Given the description of an element on the screen output the (x, y) to click on. 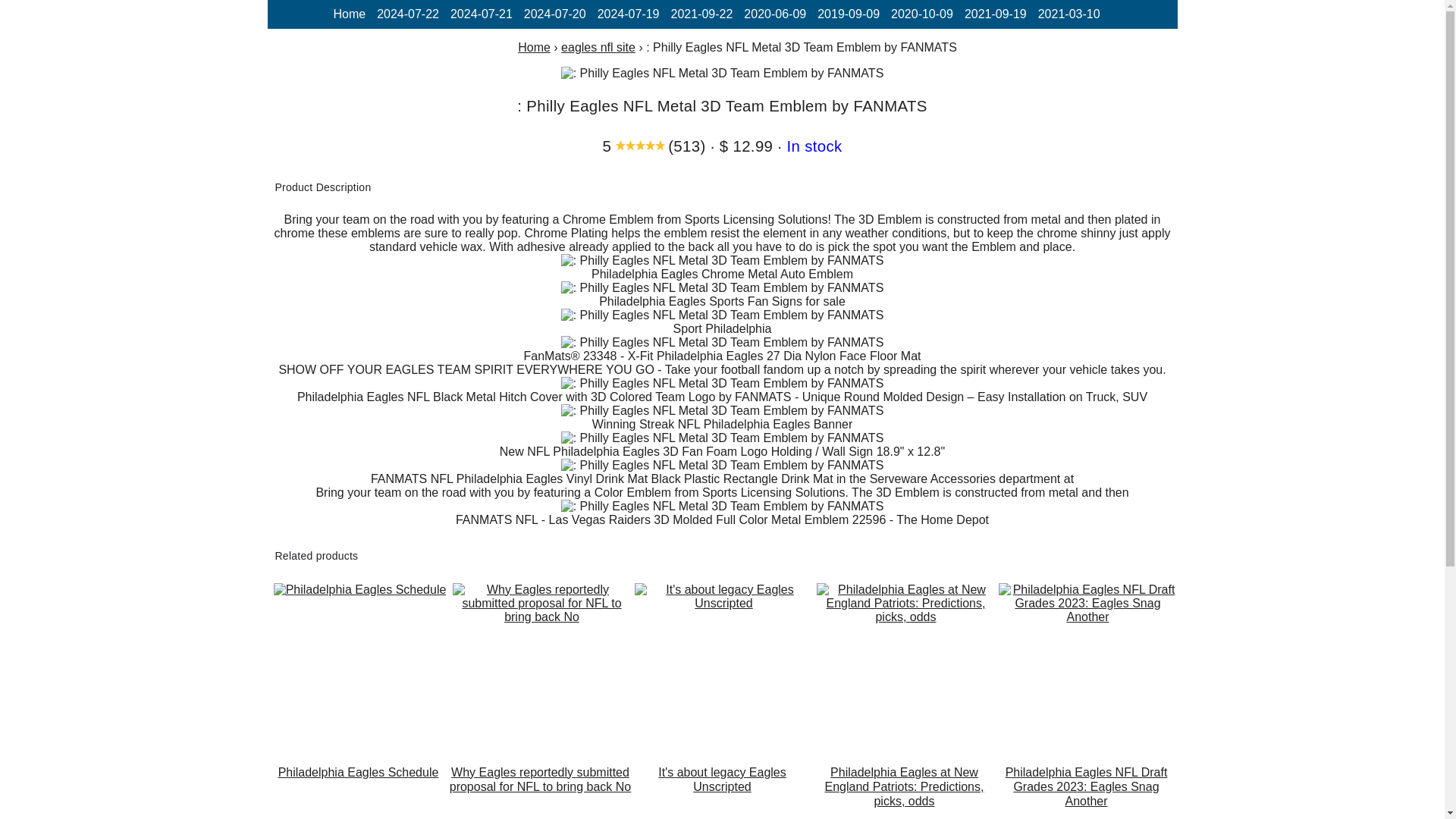
: Philly Eagles NFL Metal 3D Team Emblem by FANMATS (721, 73)
It's about legacy  Eagles Unscripted (721, 791)
Home (349, 13)
: Philly Eagles NFL Metal 3D Team Emblem by FANMATS (721, 506)
: Philly Eagles NFL Metal 3D Team Emblem by FANMATS (721, 465)
2024-07-19 (627, 13)
: Philly Eagles NFL Metal 3D Team Emblem by FANMATS (721, 315)
: Philly Eagles NFL Metal 3D Team Emblem by FANMATS (721, 287)
Philadelphia Eagles Schedule (358, 590)
Home (534, 47)
: Philly Eagles NFL Metal 3D Team Emblem by FANMATS (721, 383)
2024-07-22 (408, 13)
2024-07-20 (555, 13)
